Given the description of an element on the screen output the (x, y) to click on. 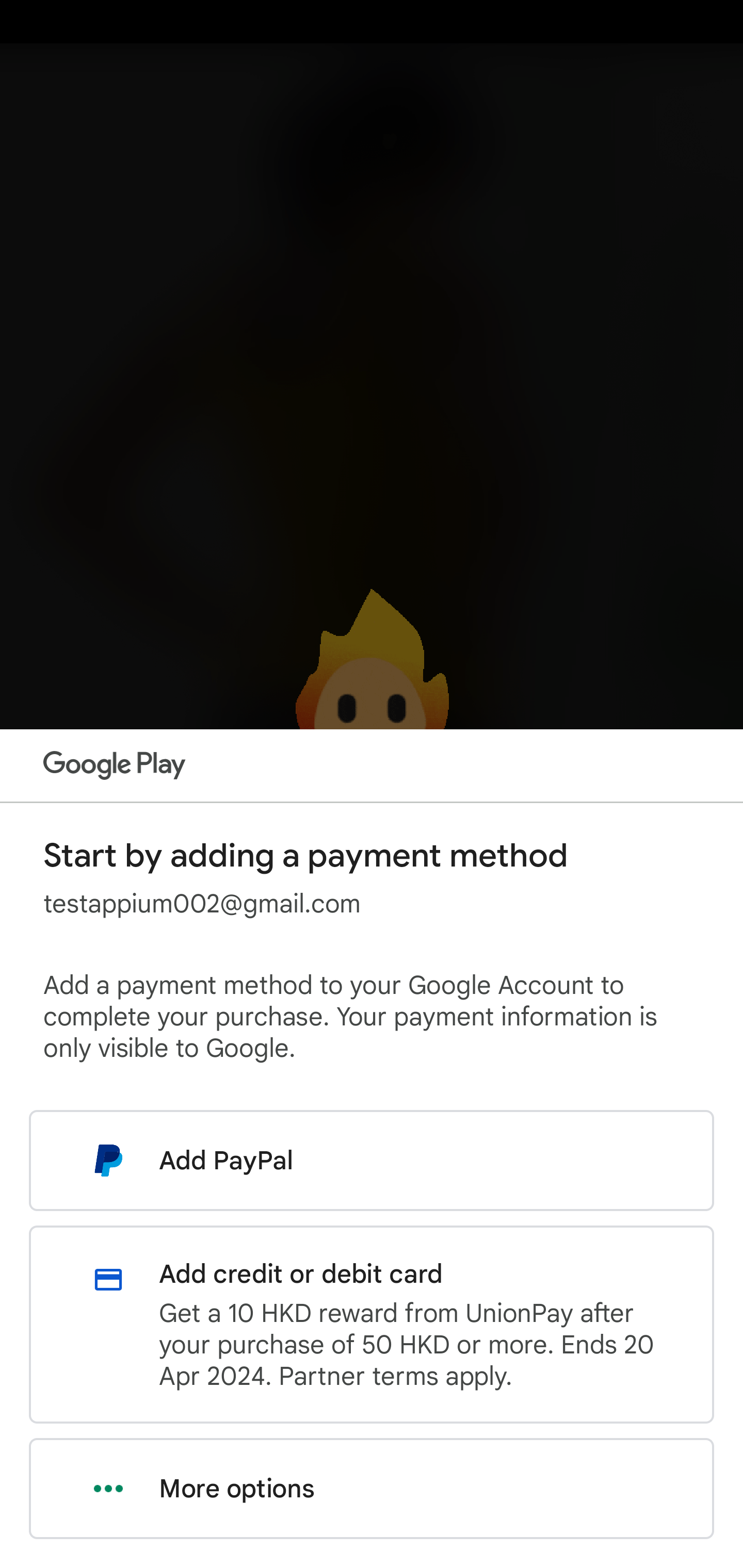
Add PayPal (371, 1160)
More options (371, 1488)
